Given the description of an element on the screen output the (x, y) to click on. 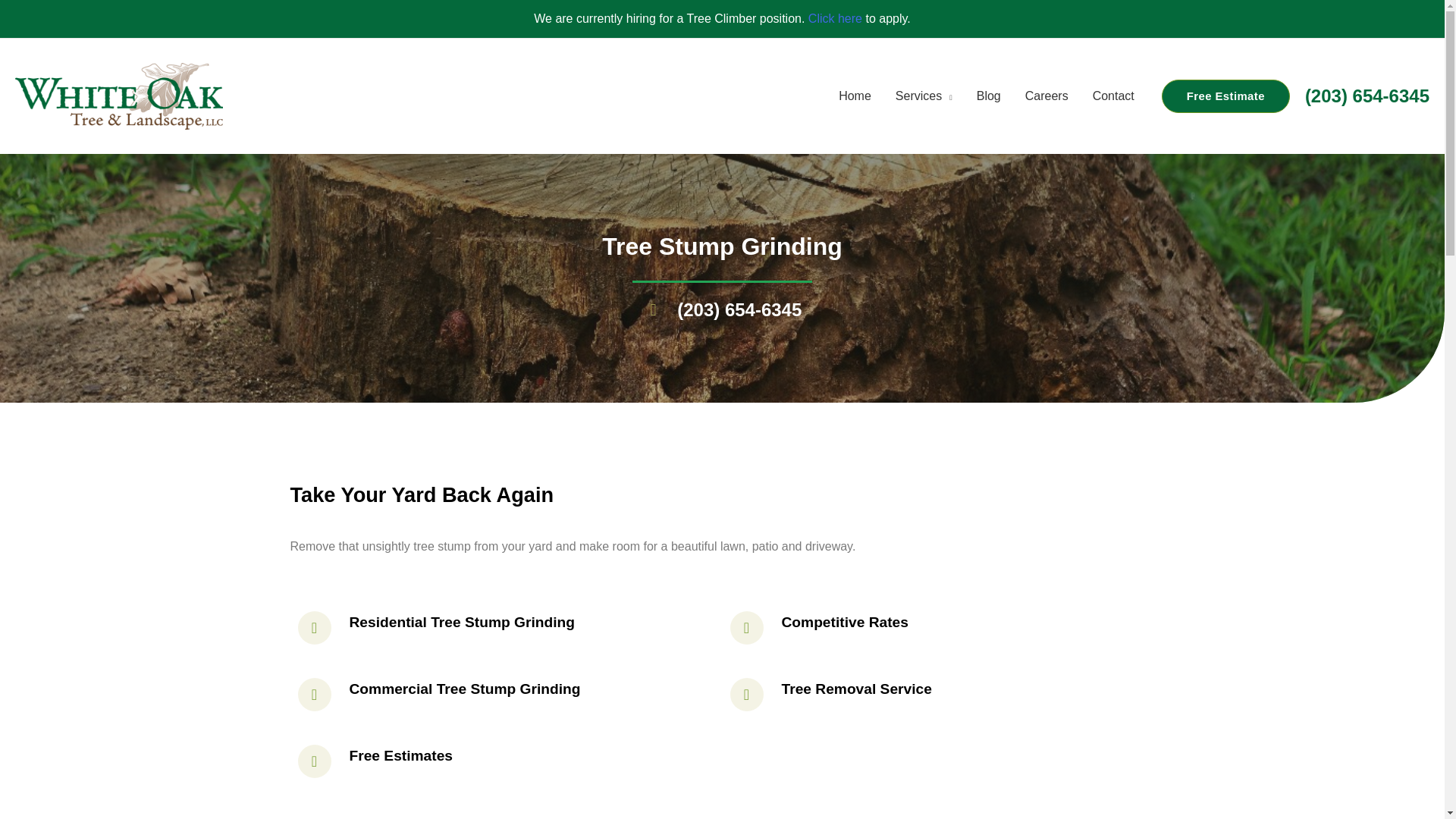
Services (923, 95)
Contact (1113, 95)
Home (855, 95)
Blog (988, 95)
Free Estimate (1225, 96)
Click here (834, 18)
Careers (1046, 95)
